Given the description of an element on the screen output the (x, y) to click on. 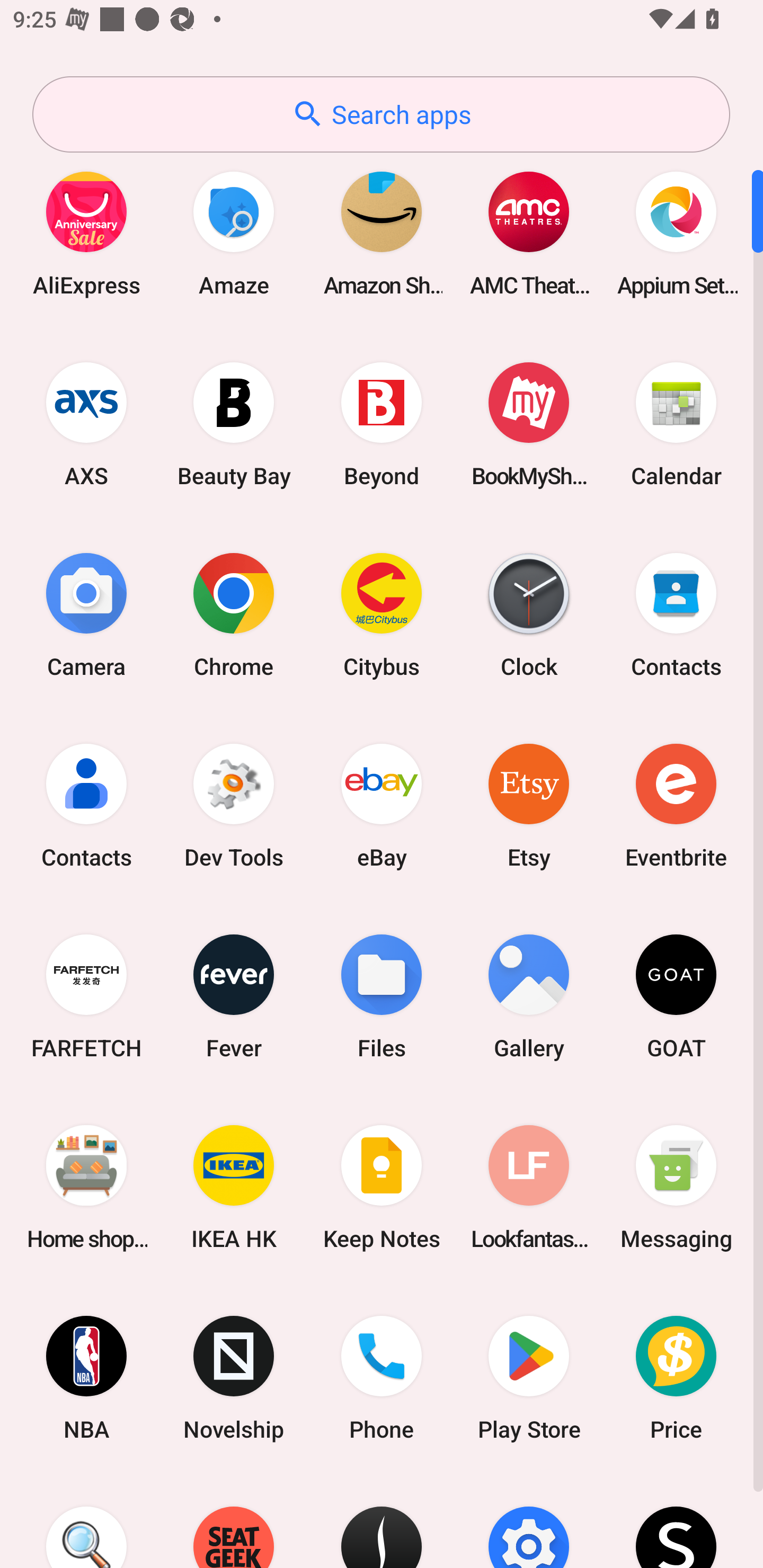
  Search apps (381, 114)
AliExpress (86, 233)
Amaze (233, 233)
Amazon Shopping (381, 233)
AMC Theatres (528, 233)
Appium Settings (676, 233)
AXS (86, 424)
Beauty Bay (233, 424)
Beyond (381, 424)
BookMyShow (528, 424)
Calendar (676, 424)
Camera (86, 614)
Chrome (233, 614)
Citybus (381, 614)
Clock (528, 614)
Contacts (676, 614)
Contacts (86, 805)
Dev Tools (233, 805)
eBay (381, 805)
Etsy (528, 805)
Eventbrite (676, 805)
FARFETCH (86, 996)
Fever (233, 996)
Files (381, 996)
Gallery (528, 996)
GOAT (676, 996)
Home shopping (86, 1186)
IKEA HK (233, 1186)
Keep Notes (381, 1186)
Lookfantastic (528, 1186)
Messaging (676, 1186)
NBA (86, 1377)
Novelship (233, 1377)
Phone (381, 1377)
Play Store (528, 1377)
Price (676, 1377)
